Given the description of an element on the screen output the (x, y) to click on. 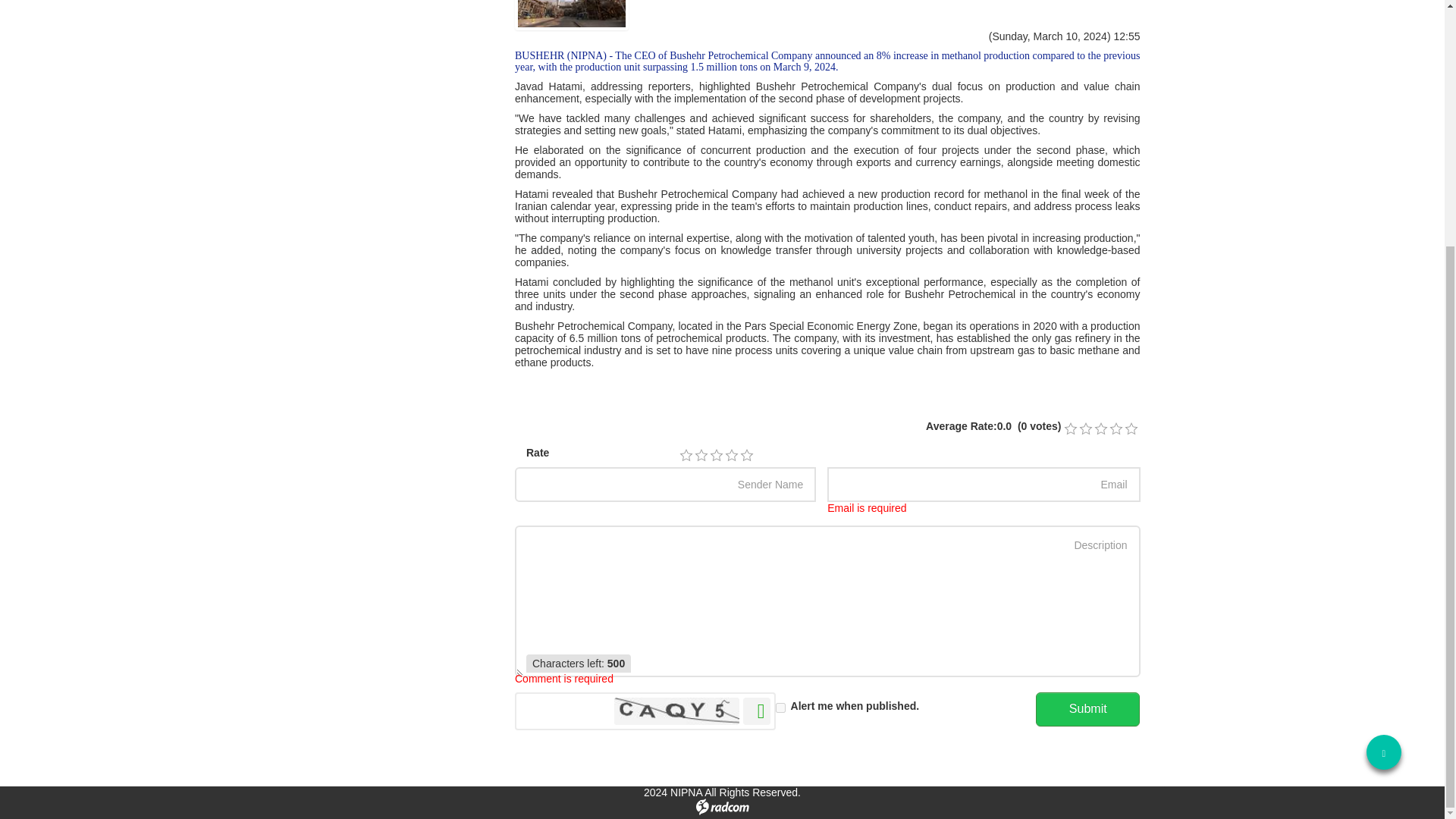
2 (700, 455)
on (781, 707)
0 (1115, 428)
0 (1099, 428)
0 (1069, 428)
1 (686, 455)
0 (1130, 428)
0 (1085, 428)
